Given the description of an element on the screen output the (x, y) to click on. 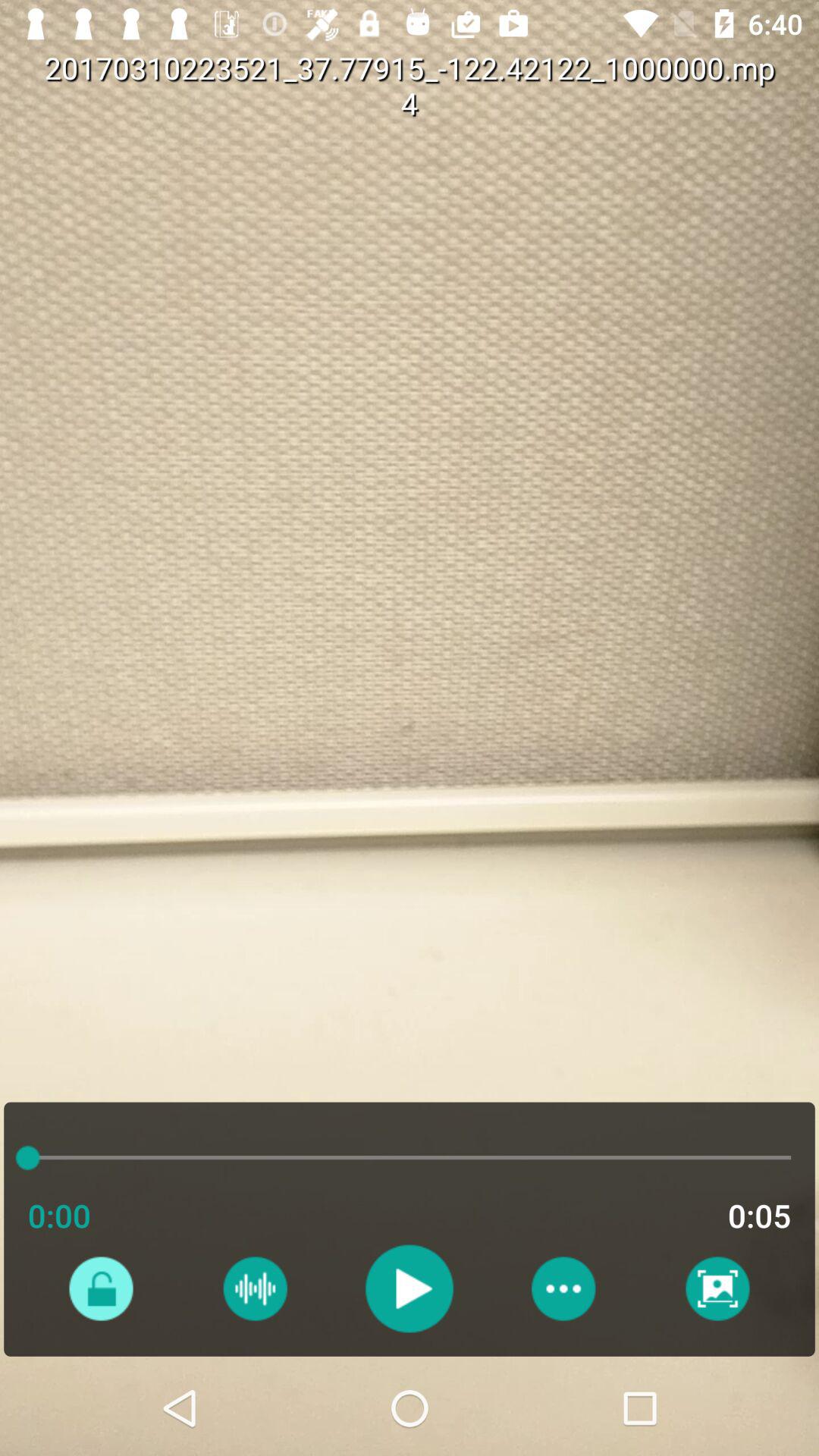
unlock (100, 1288)
